Given the description of an element on the screen output the (x, y) to click on. 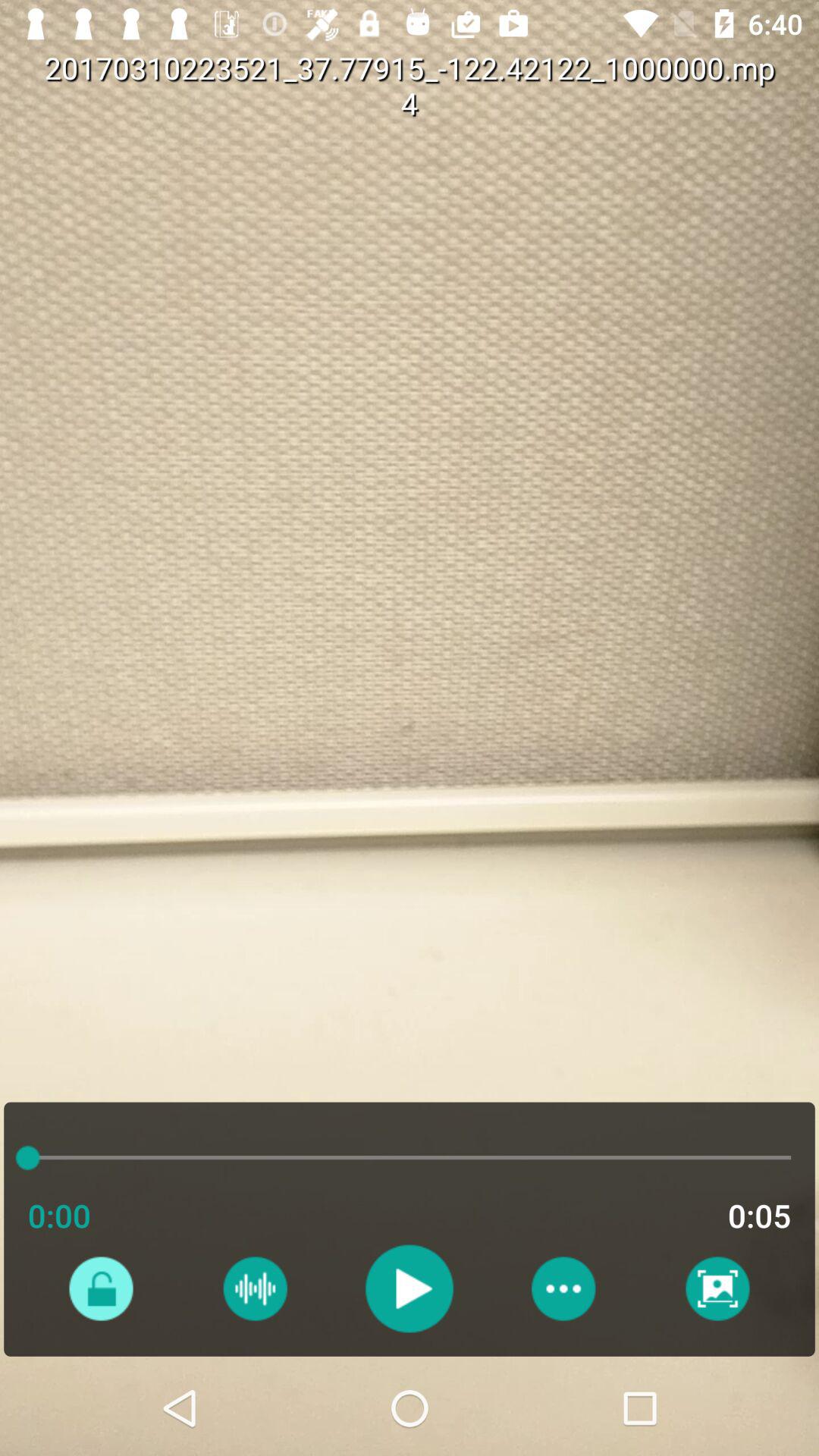
unlock (100, 1288)
